Given the description of an element on the screen output the (x, y) to click on. 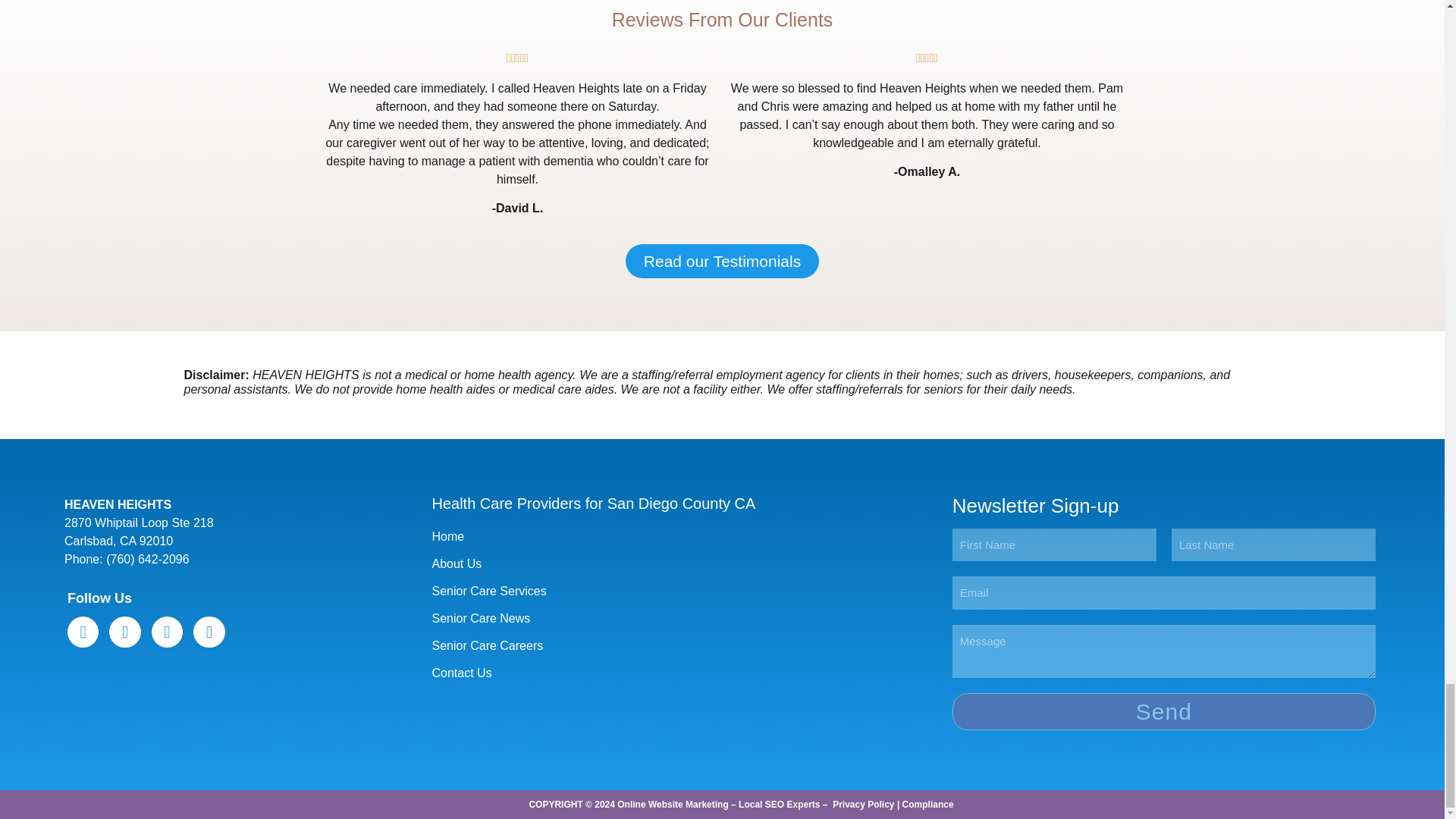
Online Website Marketing - Local SEO Experts (718, 804)
Privacy Policy (862, 804)
